Given the description of an element on the screen output the (x, y) to click on. 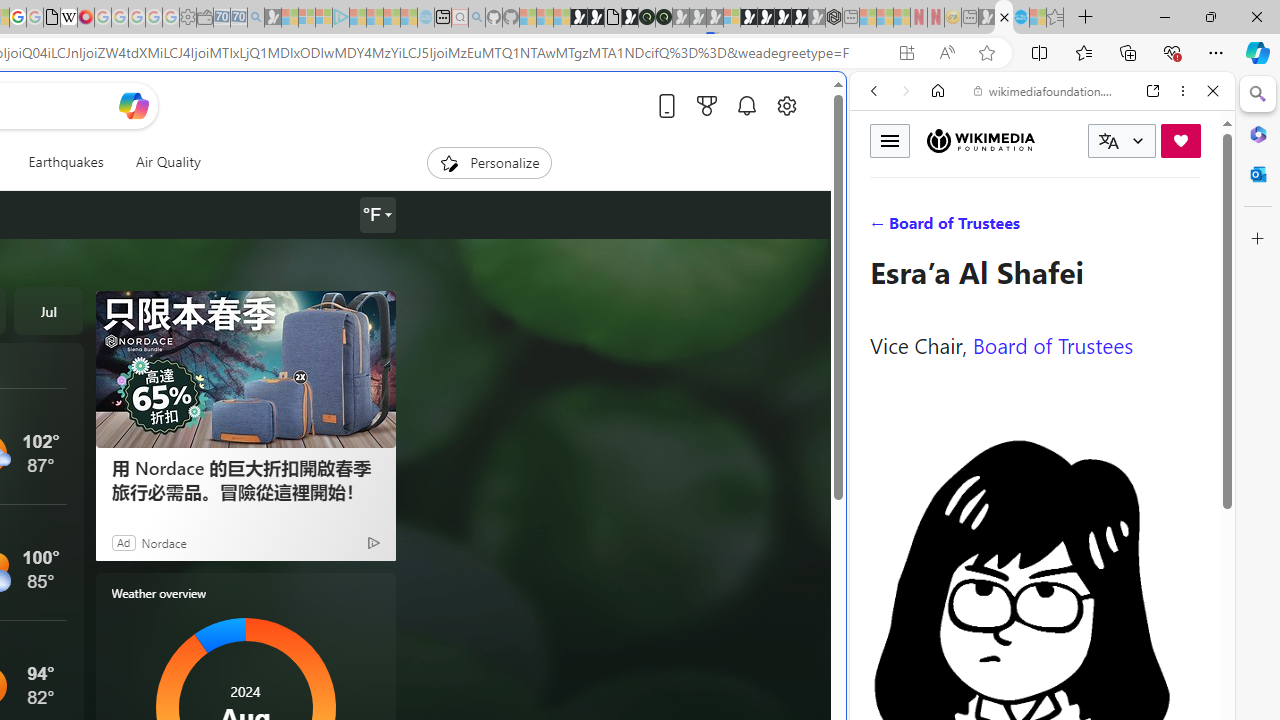
Microsoft Start Gaming - Sleeping (273, 17)
Weather settings (376, 215)
Close Customize pane (1258, 239)
Sign in to your account - Sleeping (731, 17)
Play Zoo Boom in your browser | Games from Microsoft Start (595, 17)
Wikimedia Foundation (980, 140)
